Given the description of an element on the screen output the (x, y) to click on. 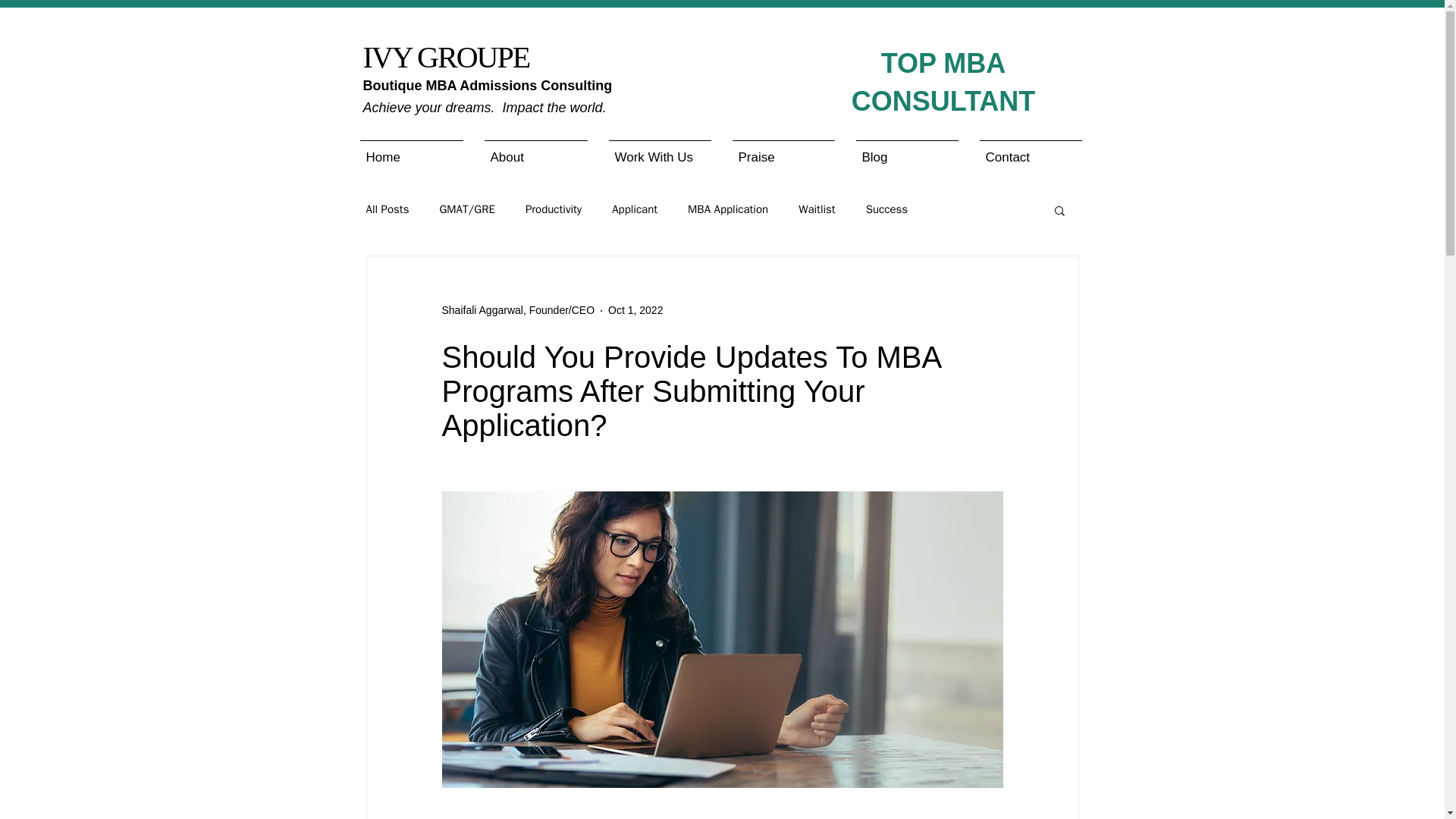
Productivity (552, 209)
Waitlist (816, 209)
All Posts (387, 209)
Boutique MBA Admissions Consulting (486, 85)
IVY GROUPE (445, 57)
Success (886, 209)
MBA Application (727, 209)
Applicant (634, 209)
Blog (906, 150)
Work With Us (658, 150)
About (534, 150)
Home (411, 150)
Contact (1031, 150)
Praise (783, 150)
Oct 1, 2022 (635, 309)
